Given the description of an element on the screen output the (x, y) to click on. 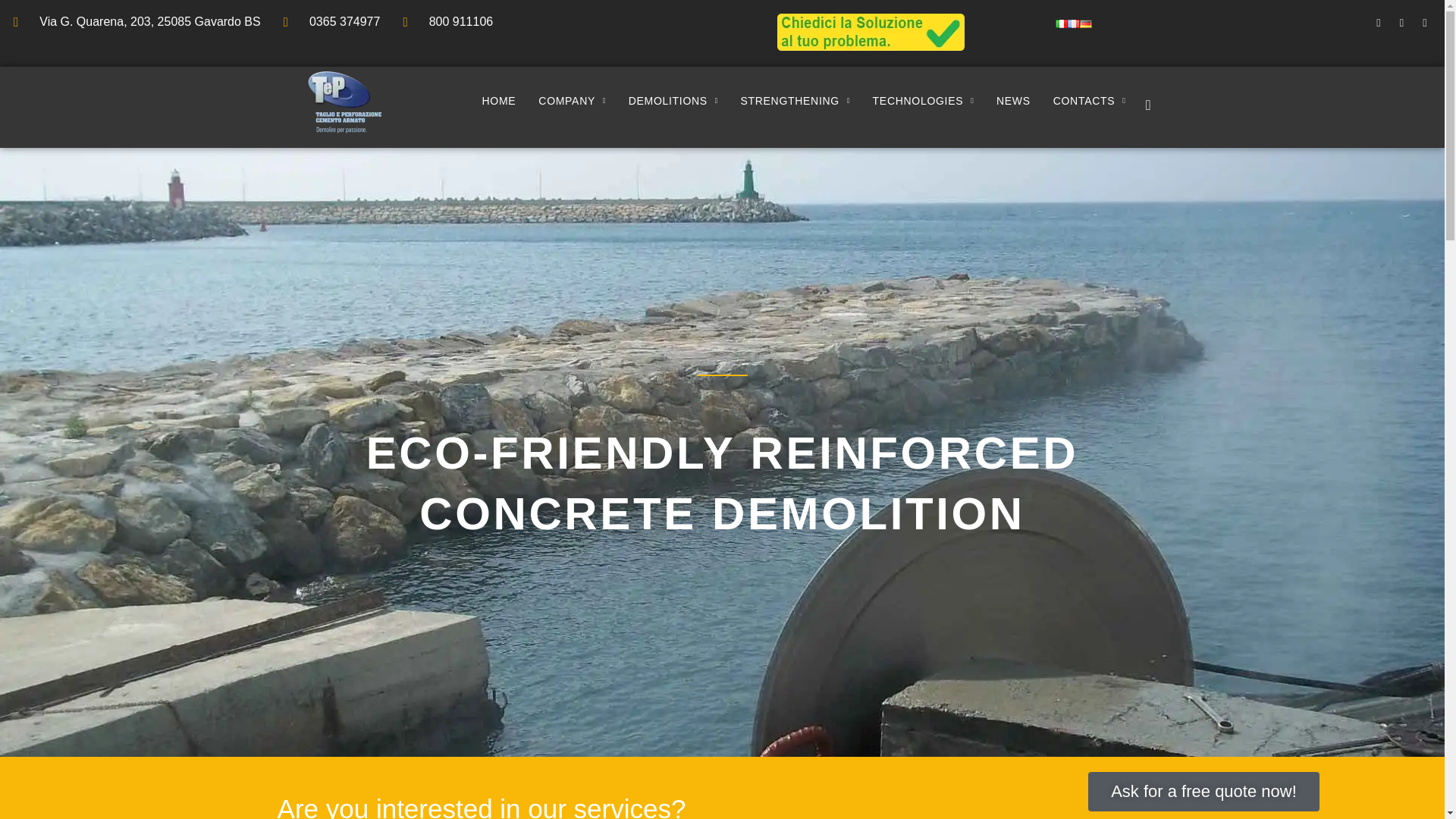
800 911106 (448, 22)
TECHNOLOGIES (923, 101)
0365 374977 (331, 22)
STRENGTHENING (794, 101)
HOME (498, 101)
COMPANY (571, 101)
DEMOLITIONS (673, 101)
